Given the description of an element on the screen output the (x, y) to click on. 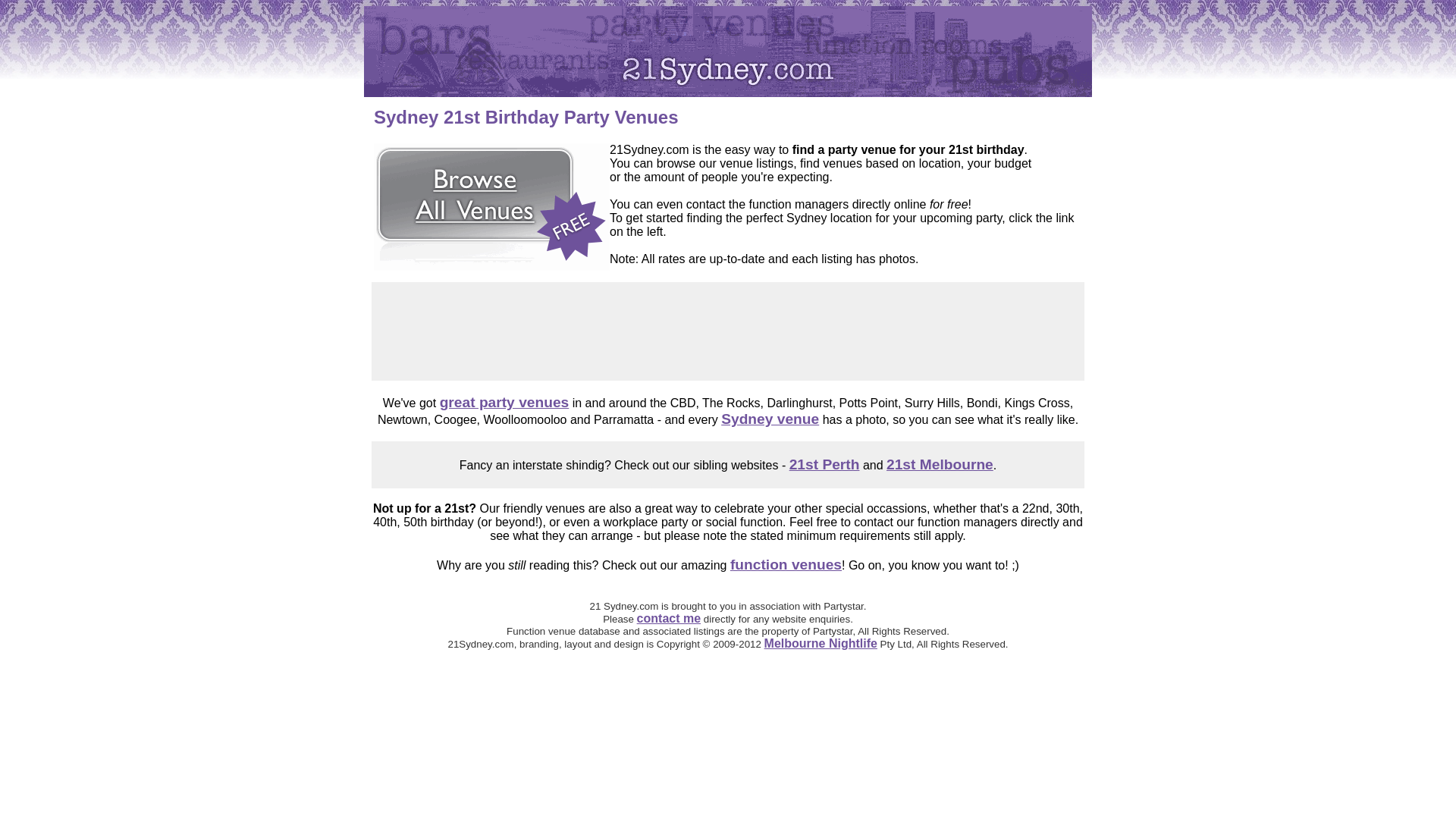
contact me Element type: text (668, 617)
Melbourne Nightlife Element type: text (820, 643)
21st Perth Element type: text (824, 464)
Sydney venue Element type: text (770, 418)
great party venues Element type: text (504, 402)
Advertisement Element type: hover (727, 331)
21st Melbourne Element type: text (939, 464)
21Sydney.com - 21st Birthay Venues in Sydney Element type: hover (728, 51)
function venues Element type: text (785, 564)
